Given the description of an element on the screen output the (x, y) to click on. 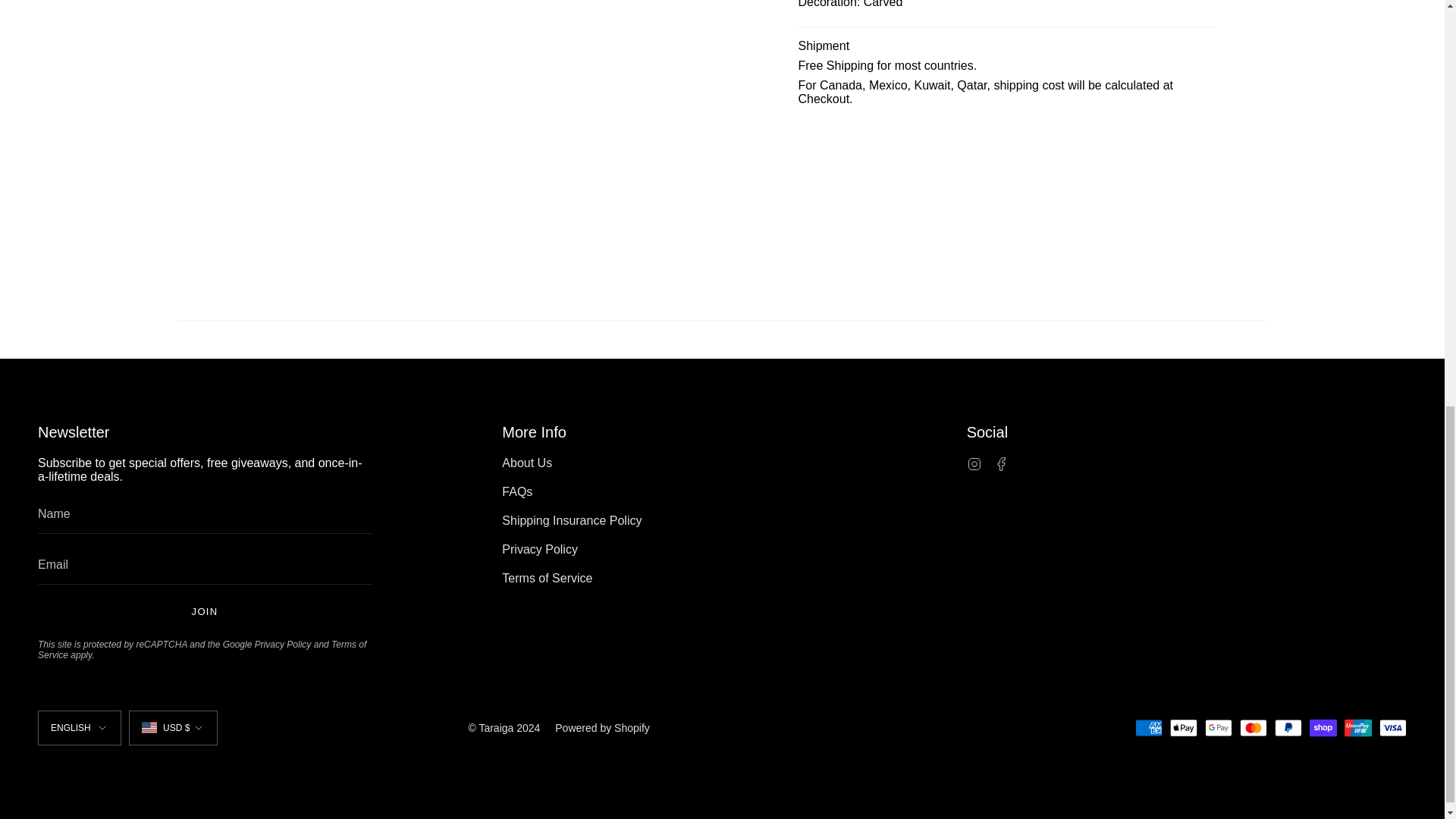
Taraiga on Instagram (973, 462)
Taraiga on Facebook (1001, 462)
